Given the description of an element on the screen output the (x, y) to click on. 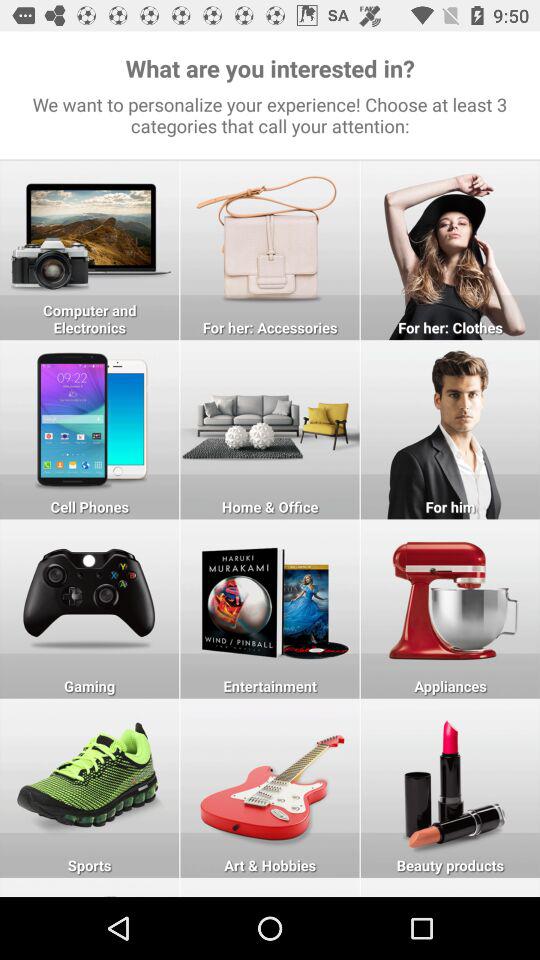
chose in applings (89, 608)
